Given the description of an element on the screen output the (x, y) to click on. 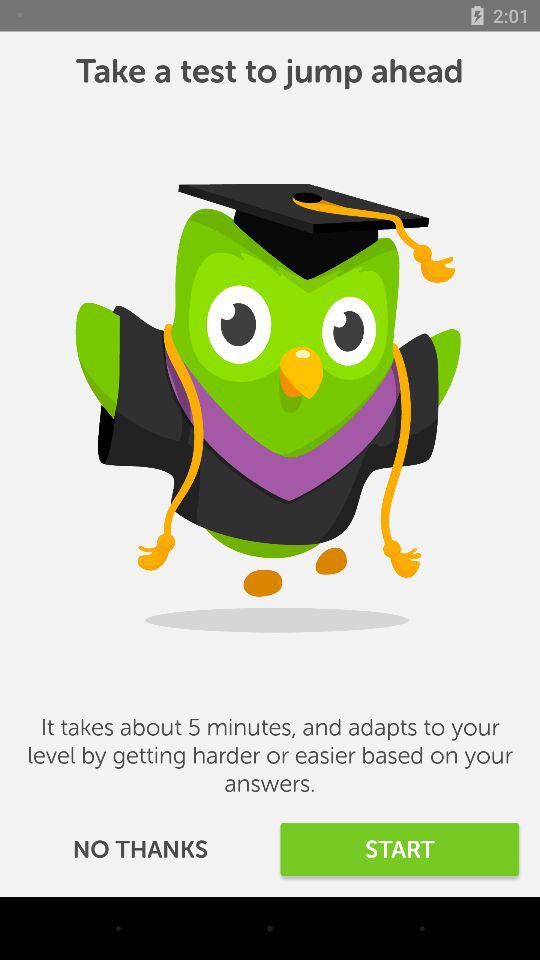
turn off the item to the right of no thanks (399, 849)
